Given the description of an element on the screen output the (x, y) to click on. 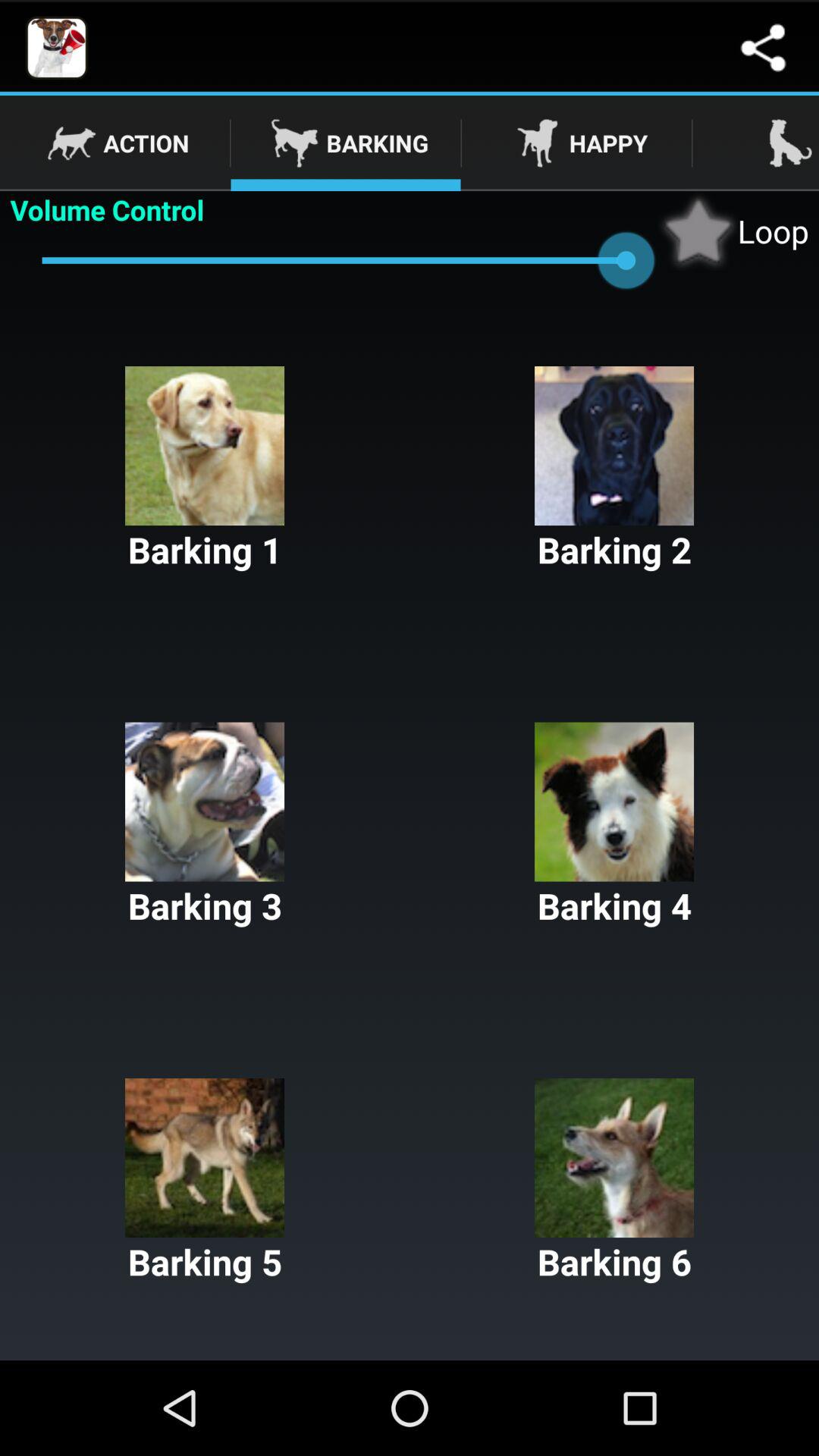
swipe until the barking 1 (204, 469)
